Given the description of an element on the screen output the (x, y) to click on. 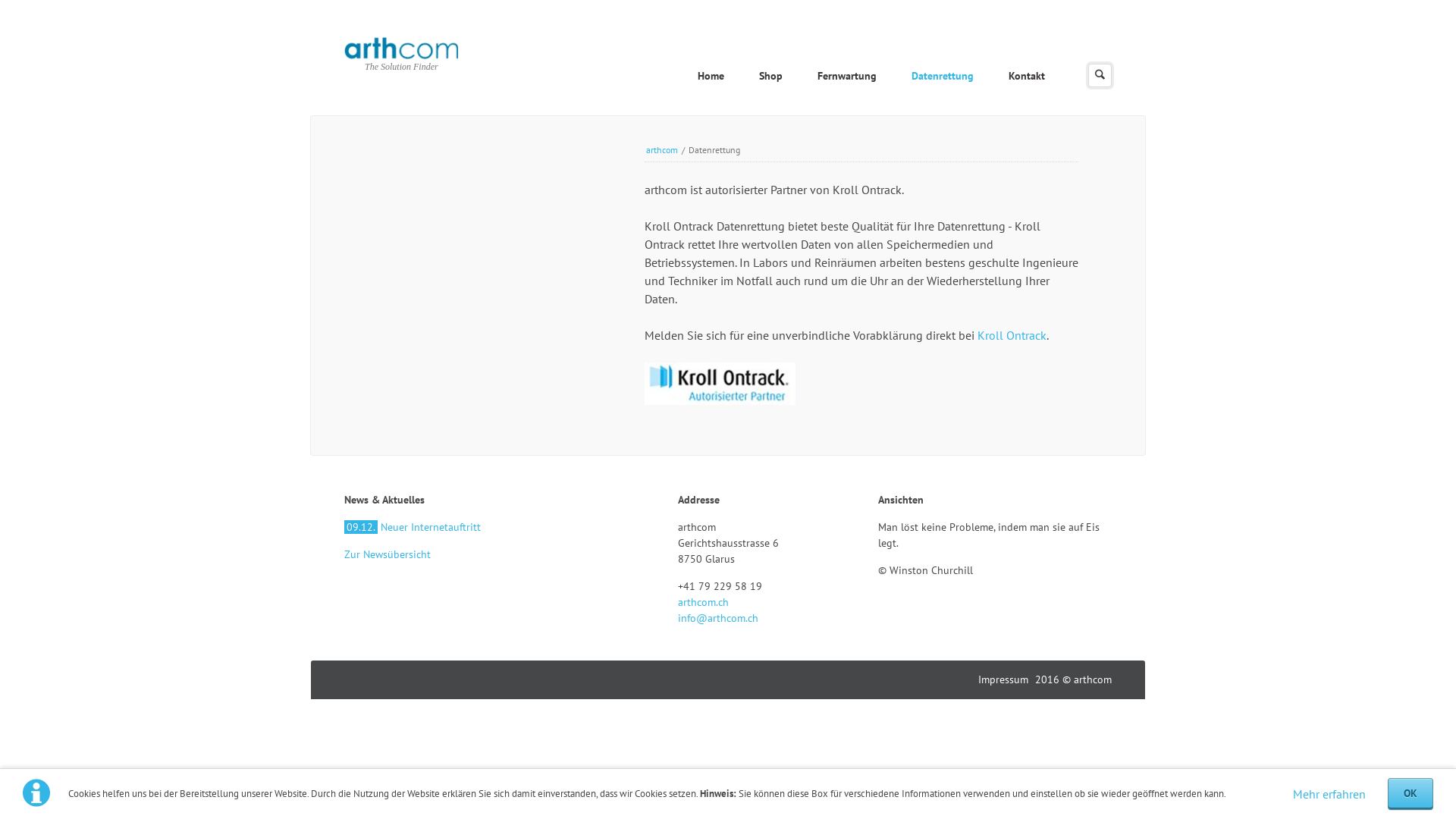
info@arthcom.ch Element type: text (717, 617)
Shop Element type: text (770, 77)
09.12. Neuer Internetauftritt Element type: text (412, 526)
Kontakt Element type: text (1026, 77)
arthcom Element type: text (661, 149)
  Element type: text (1044, 61)
Home Element type: text (710, 77)
Datenrettung Element type: text (942, 77)
arthcom.ch Element type: text (702, 601)
Impressum Element type: text (1004, 679)
Suchen Element type: text (1099, 75)
OK Element type: text (1410, 793)
Kroll Ontrack Element type: text (1011, 334)
Fernwartung Element type: text (846, 77)
Mehr erfahren Element type: text (1328, 793)
